Given the description of an element on the screen output the (x, y) to click on. 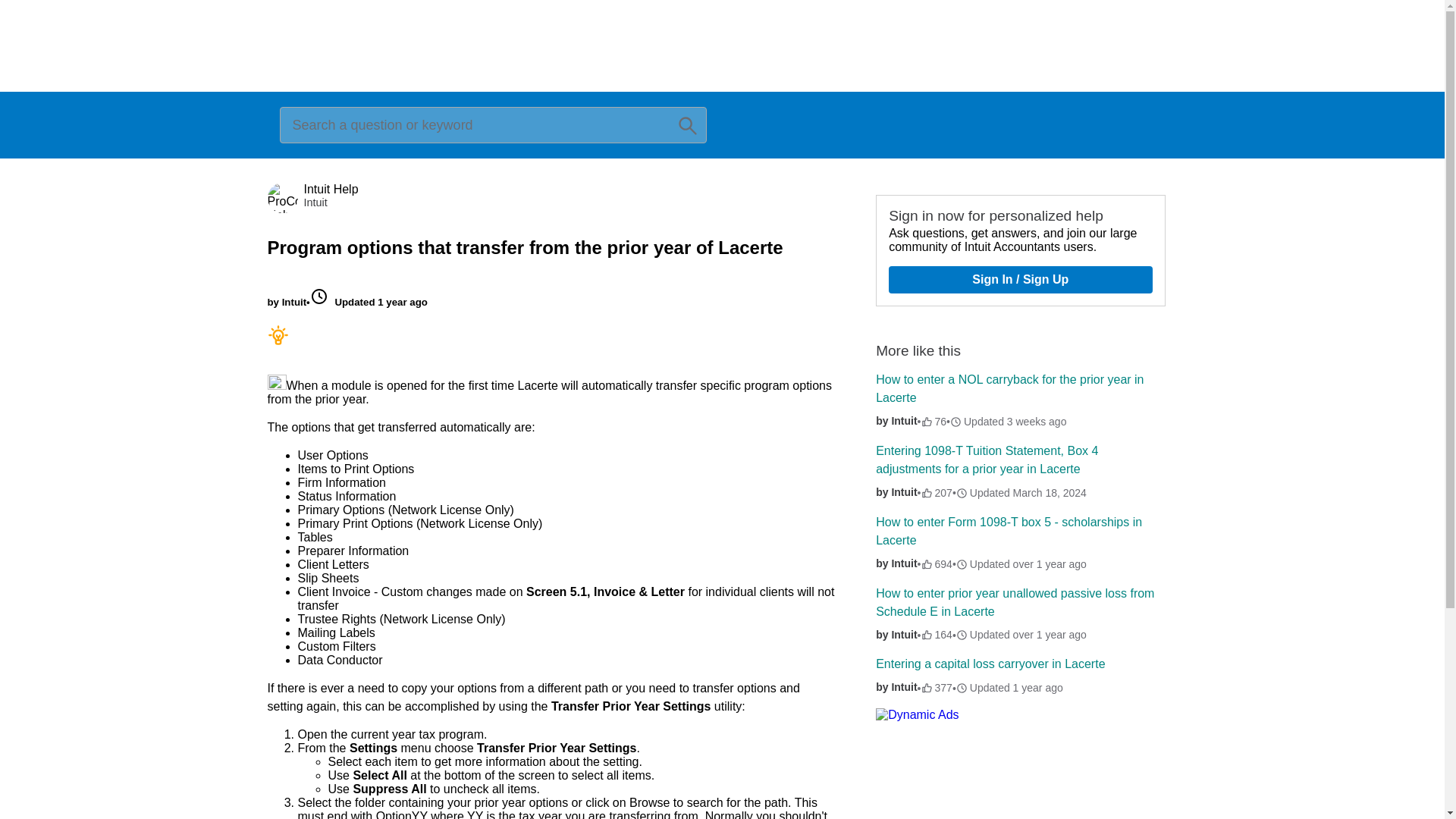
Entering a capital loss carryover in Lacerte (990, 663)
How to enter Form 1098-T box 5 - scholarships in Lacerte (1008, 531)
How to enter a NOL carryback for the prior year in Lacerte (1009, 388)
